Given the description of an element on the screen output the (x, y) to click on. 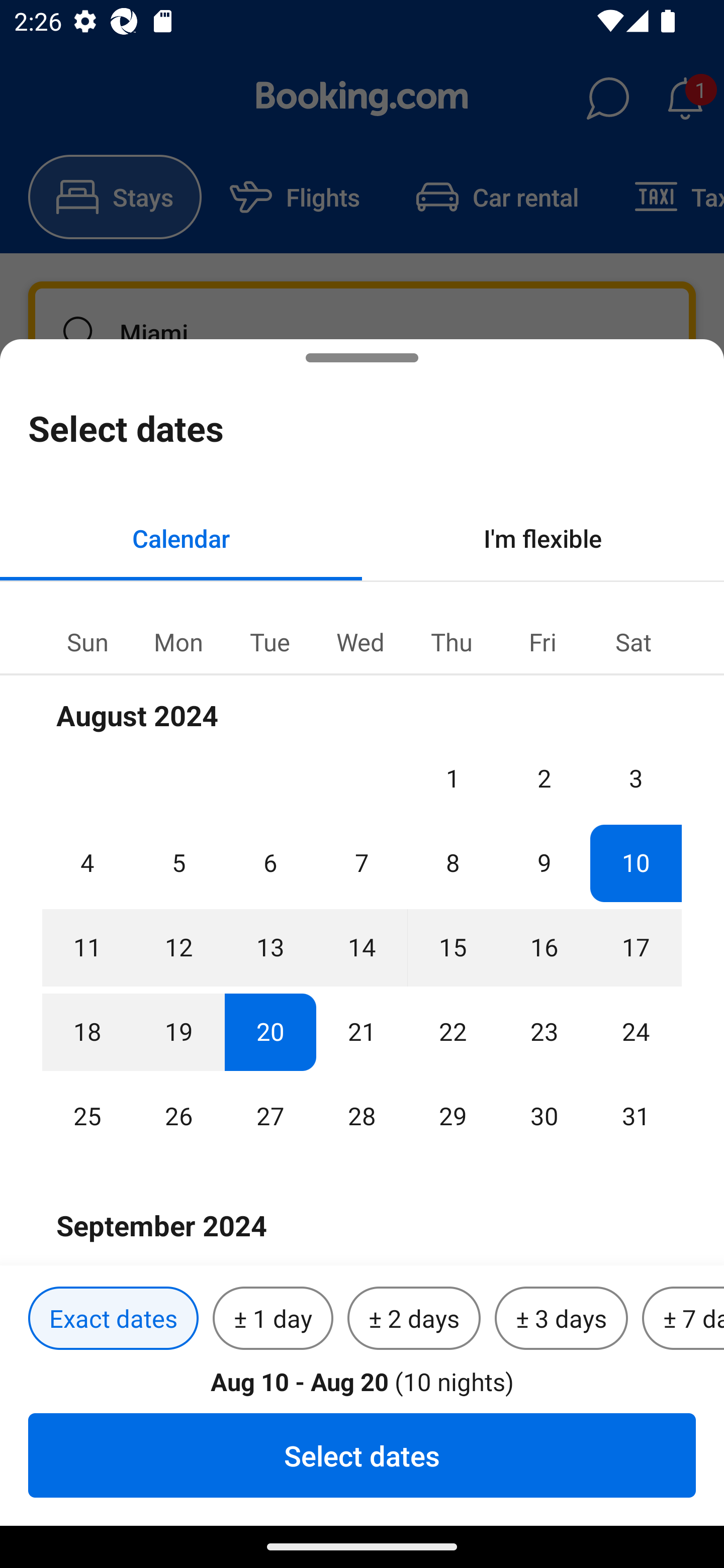
I'm flexible (543, 537)
Exact dates (113, 1318)
± 1 day (272, 1318)
± 2 days (413, 1318)
± 3 days (560, 1318)
± 7 days (683, 1318)
Select dates (361, 1454)
